Given the description of an element on the screen output the (x, y) to click on. 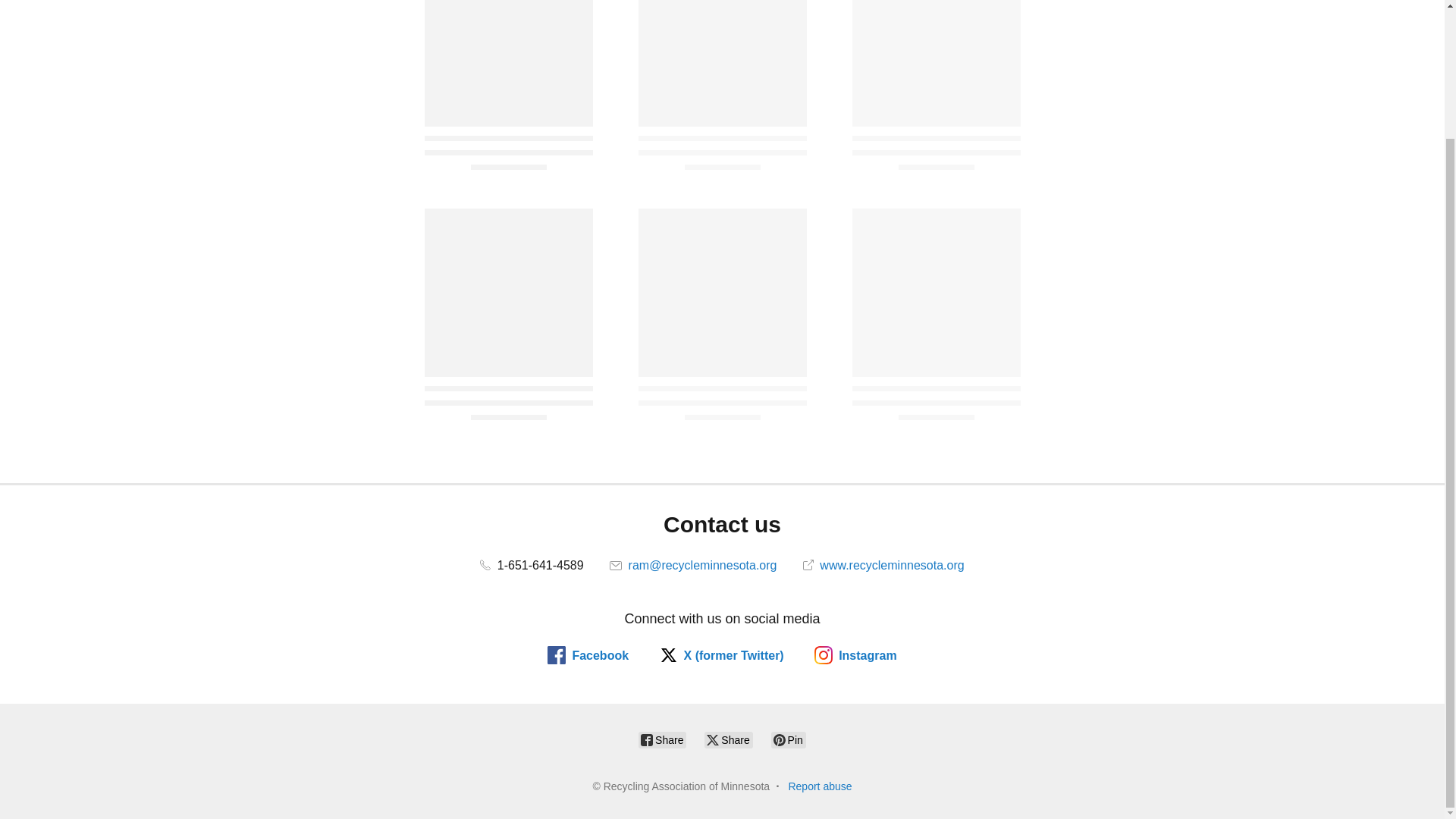
Share (662, 740)
Facebook (587, 655)
Instagram (854, 655)
Share (728, 740)
www.recycleminnesota.org (883, 564)
Pin (788, 740)
Report abuse (819, 786)
1-651-641-4589 (531, 564)
